Given the description of an element on the screen output the (x, y) to click on. 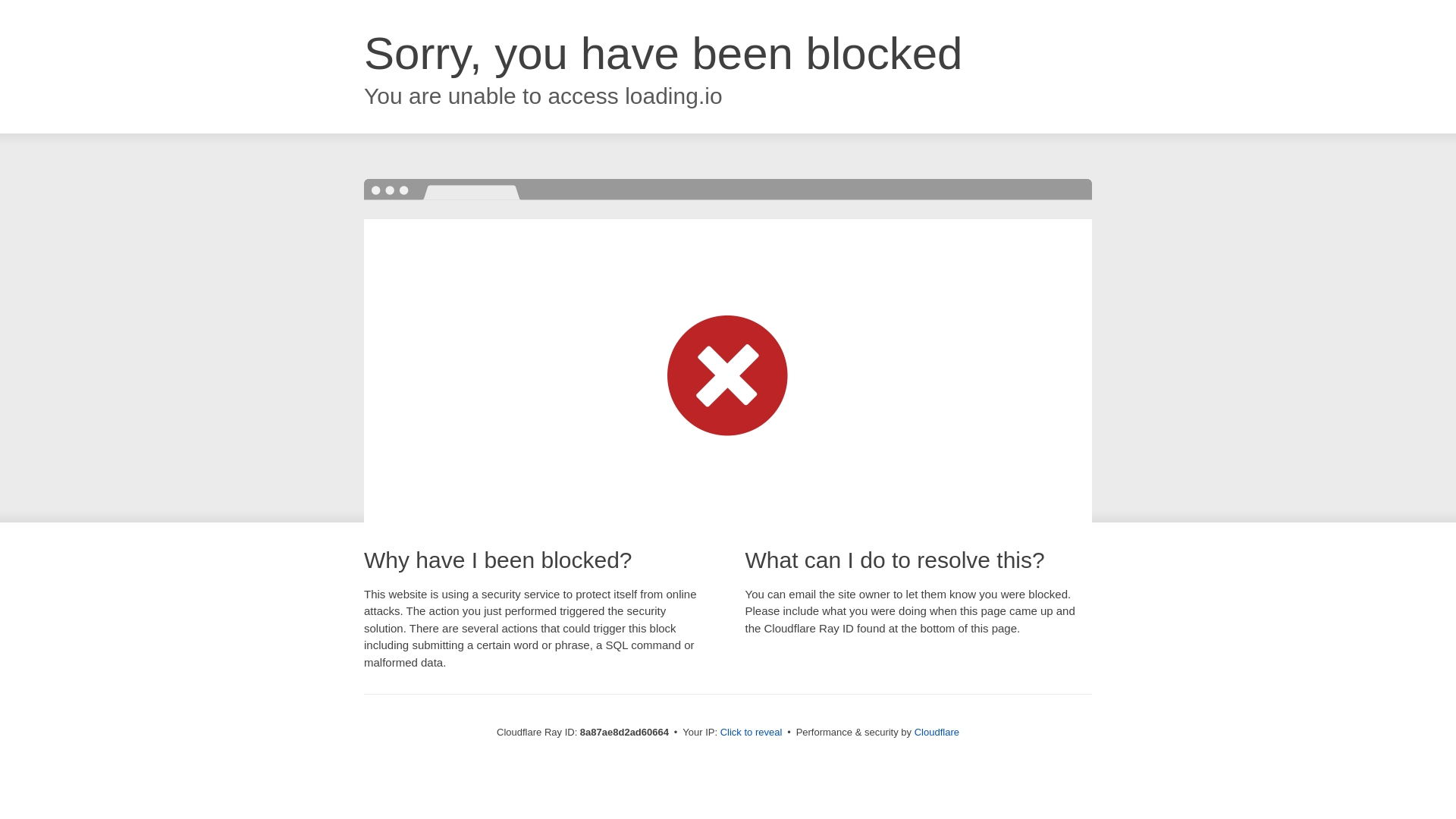
Cloudflare (936, 731)
Click to reveal (751, 732)
